Given the description of an element on the screen output the (x, y) to click on. 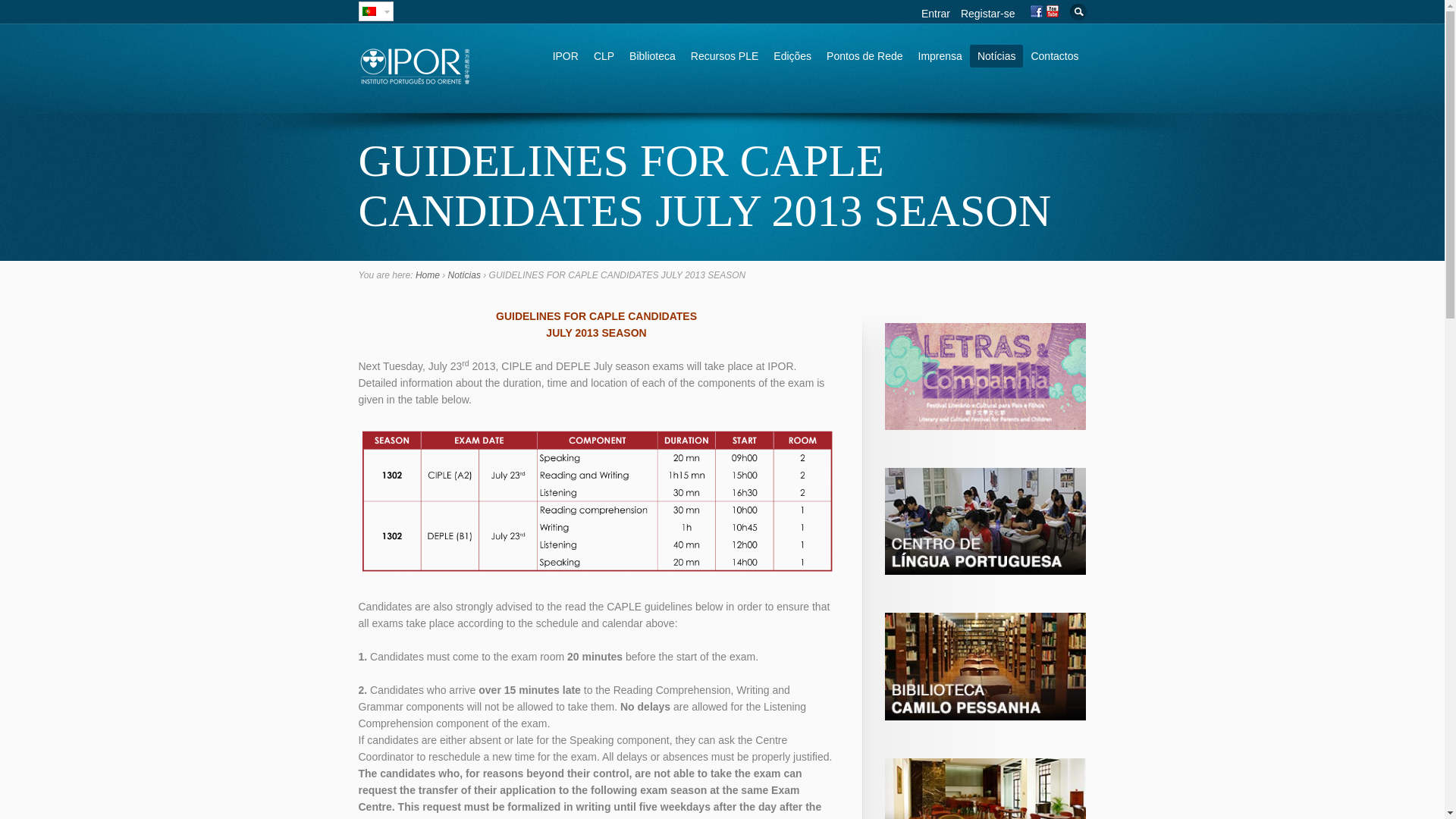
CLP (603, 56)
Pontos de Rede (864, 56)
IPOR (565, 56)
Recursos PLE (723, 56)
Biblioteca (651, 56)
Imprensa (940, 56)
Go back to the homepage (414, 80)
